Given the description of an element on the screen output the (x, y) to click on. 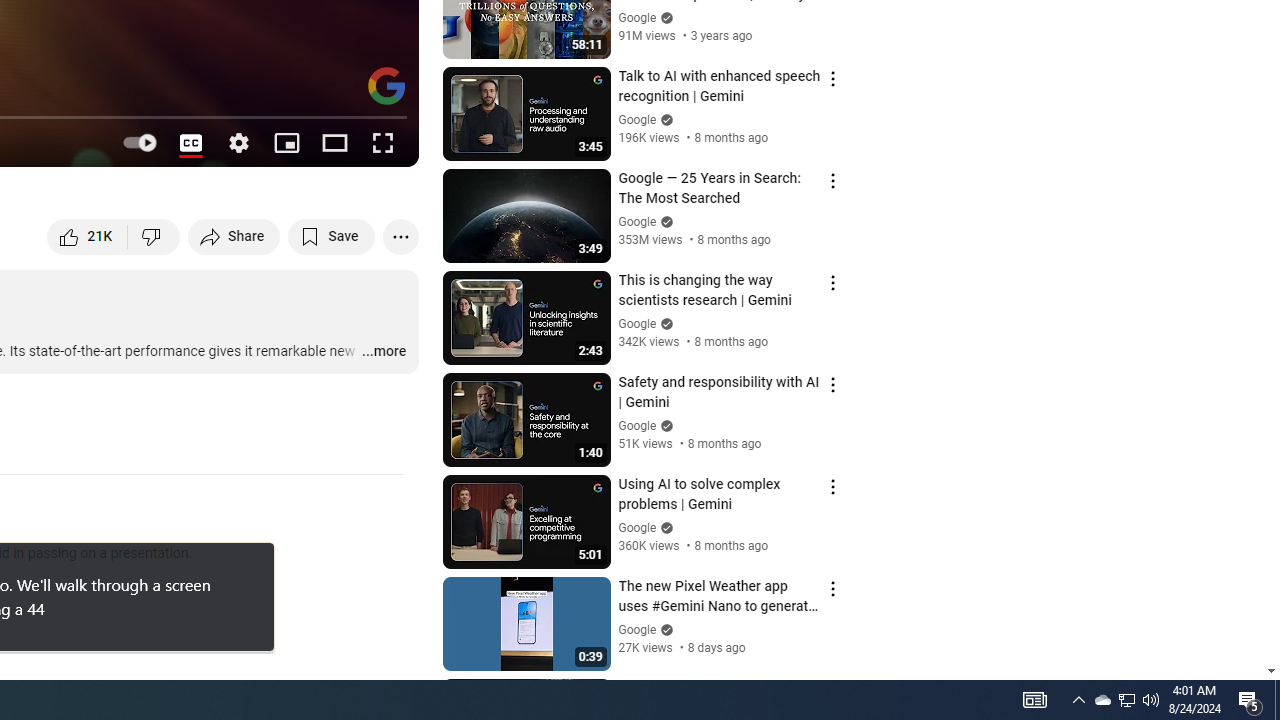
Save to playlist (331, 236)
Channel watermark (386, 85)
Theater mode (t) (333, 142)
Subtitles/closed captions unavailable (190, 142)
Action menu (832, 690)
Share (234, 236)
Verified (664, 629)
Full screen (f) (382, 142)
Miniplayer (i) (286, 142)
More actions (399, 236)
